Given the description of an element on the screen output the (x, y) to click on. 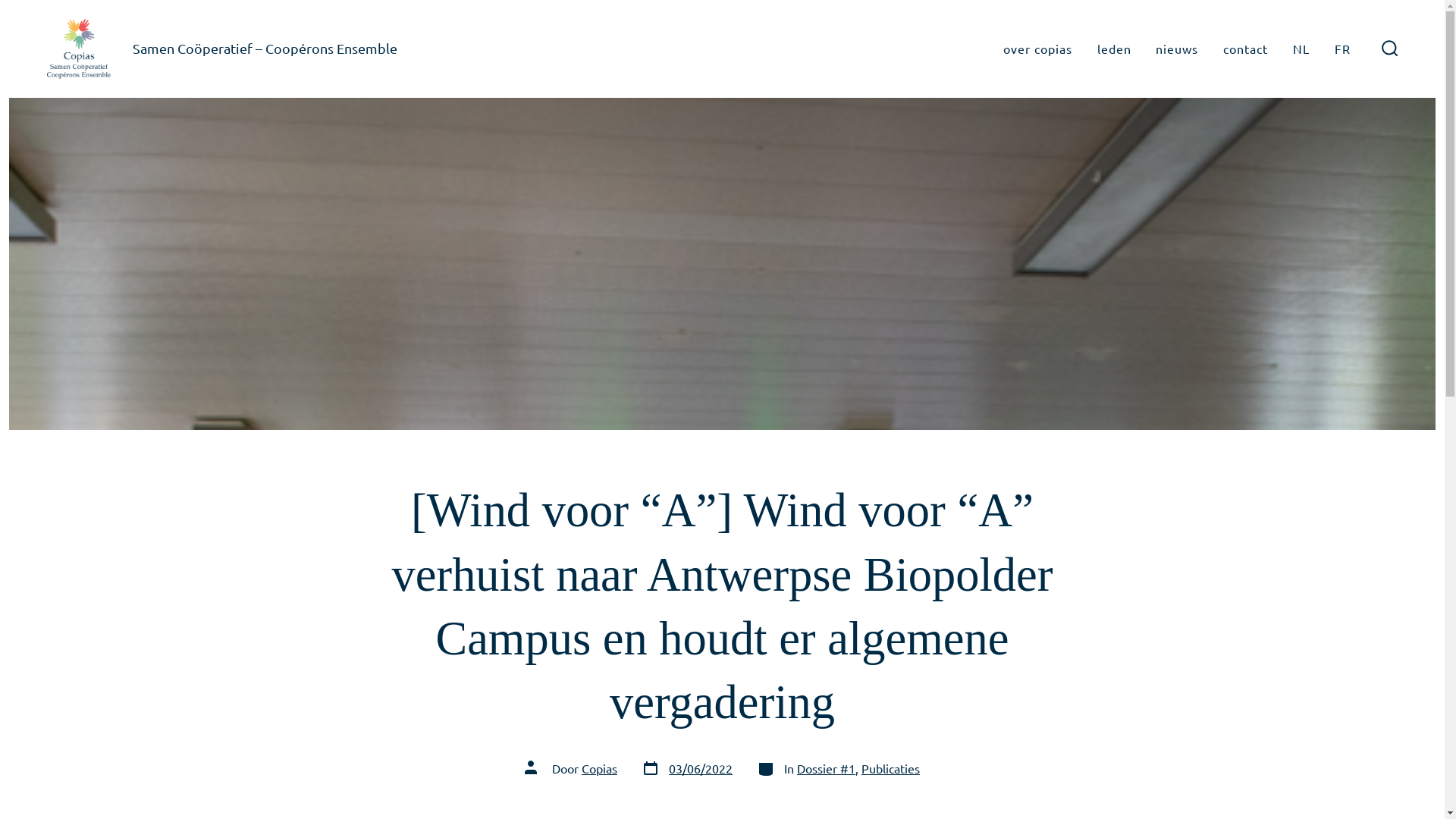
nieuws Element type: text (1176, 48)
Berichtdatum
03/06/2022 Element type: text (686, 768)
contact Element type: text (1245, 48)
leden Element type: text (1114, 48)
Publicaties Element type: text (890, 767)
Copias Element type: text (599, 767)
Dossier #1 Element type: text (826, 767)
zoeken in-/uitschakelen Element type: text (1389, 48)
NL Element type: text (1300, 48)
FR Element type: text (1342, 48)
over copias Element type: text (1037, 48)
